Given the description of an element on the screen output the (x, y) to click on. 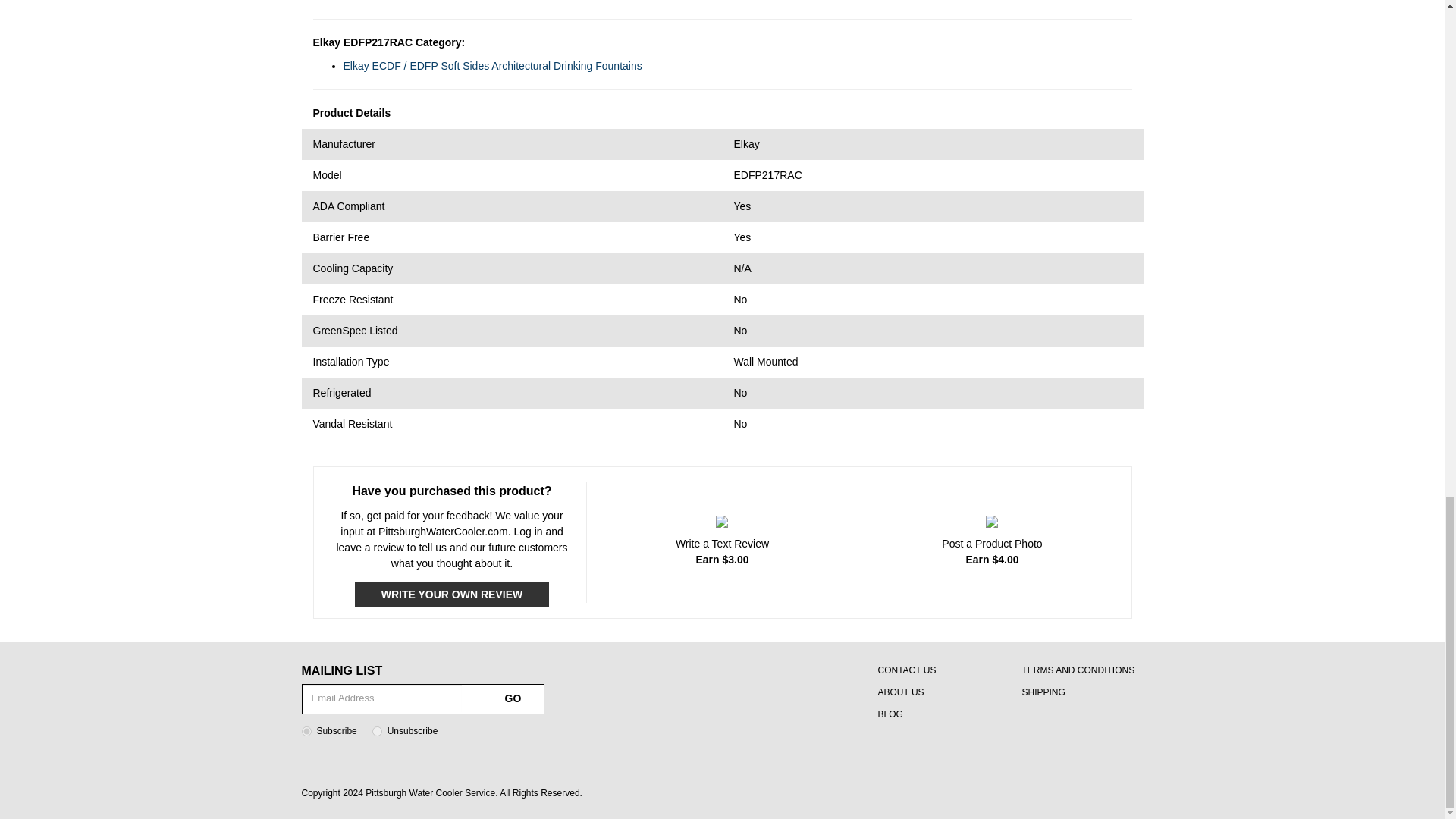
0 (376, 731)
1 (306, 731)
